Given the description of an element on the screen output the (x, y) to click on. 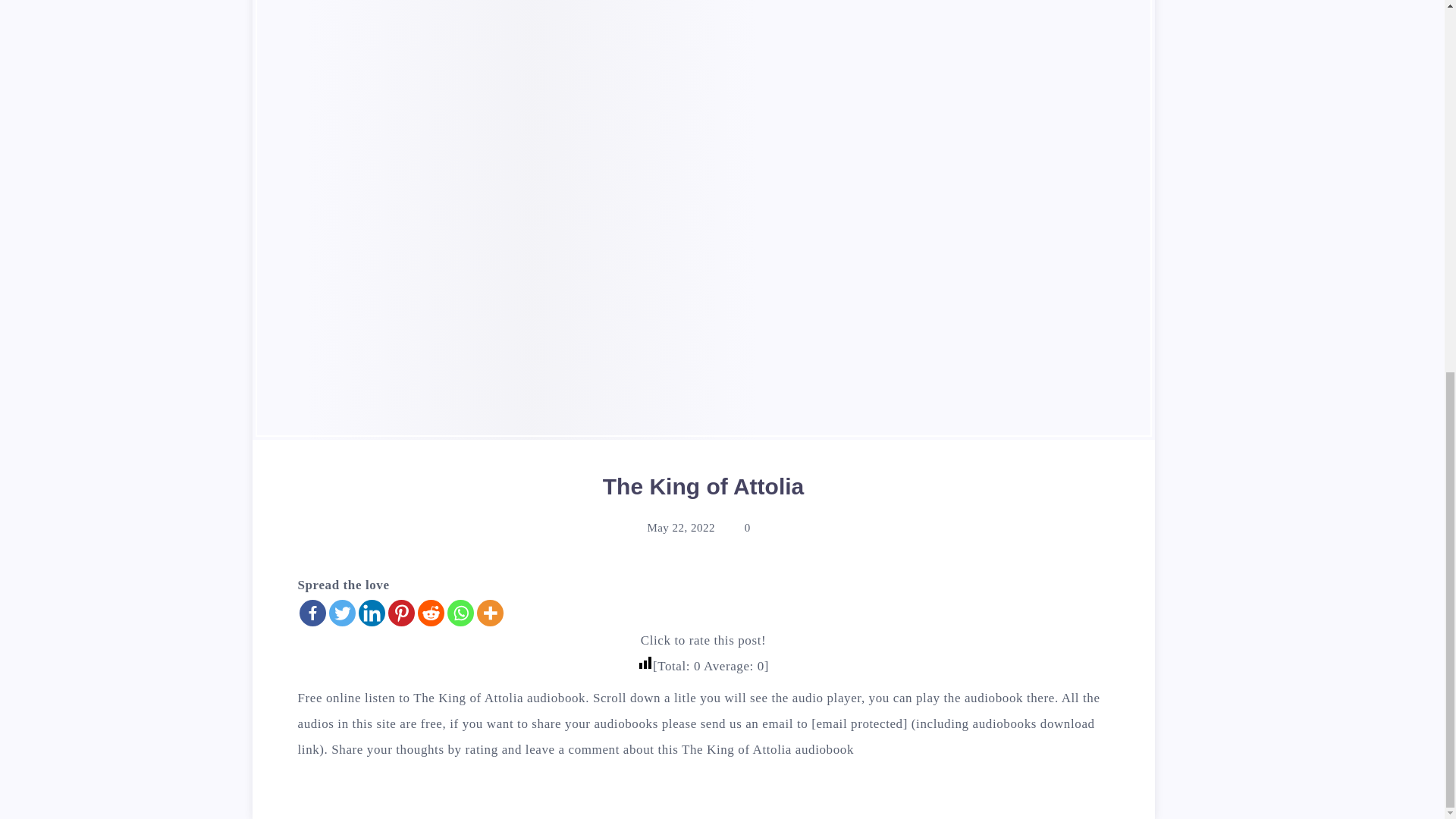
0 Comments (737, 527)
Reddit (430, 612)
Twitter (342, 612)
Pinterest (401, 612)
Facebook (311, 612)
Whatsapp (460, 612)
Linkedin (371, 612)
More (489, 612)
0 (737, 527)
